Given the description of an element on the screen output the (x, y) to click on. 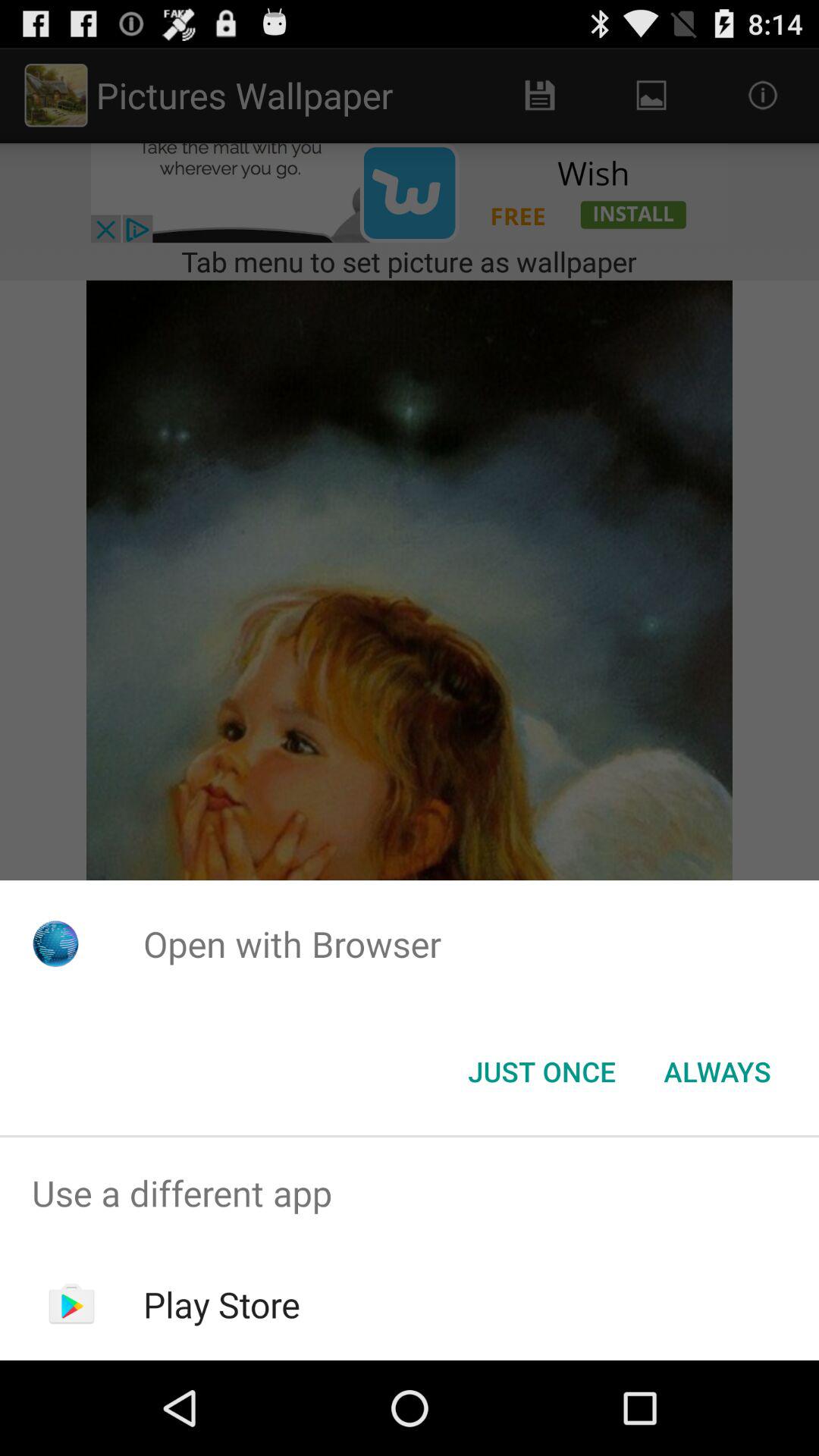
turn off app below use a different (221, 1304)
